Given the description of an element on the screen output the (x, y) to click on. 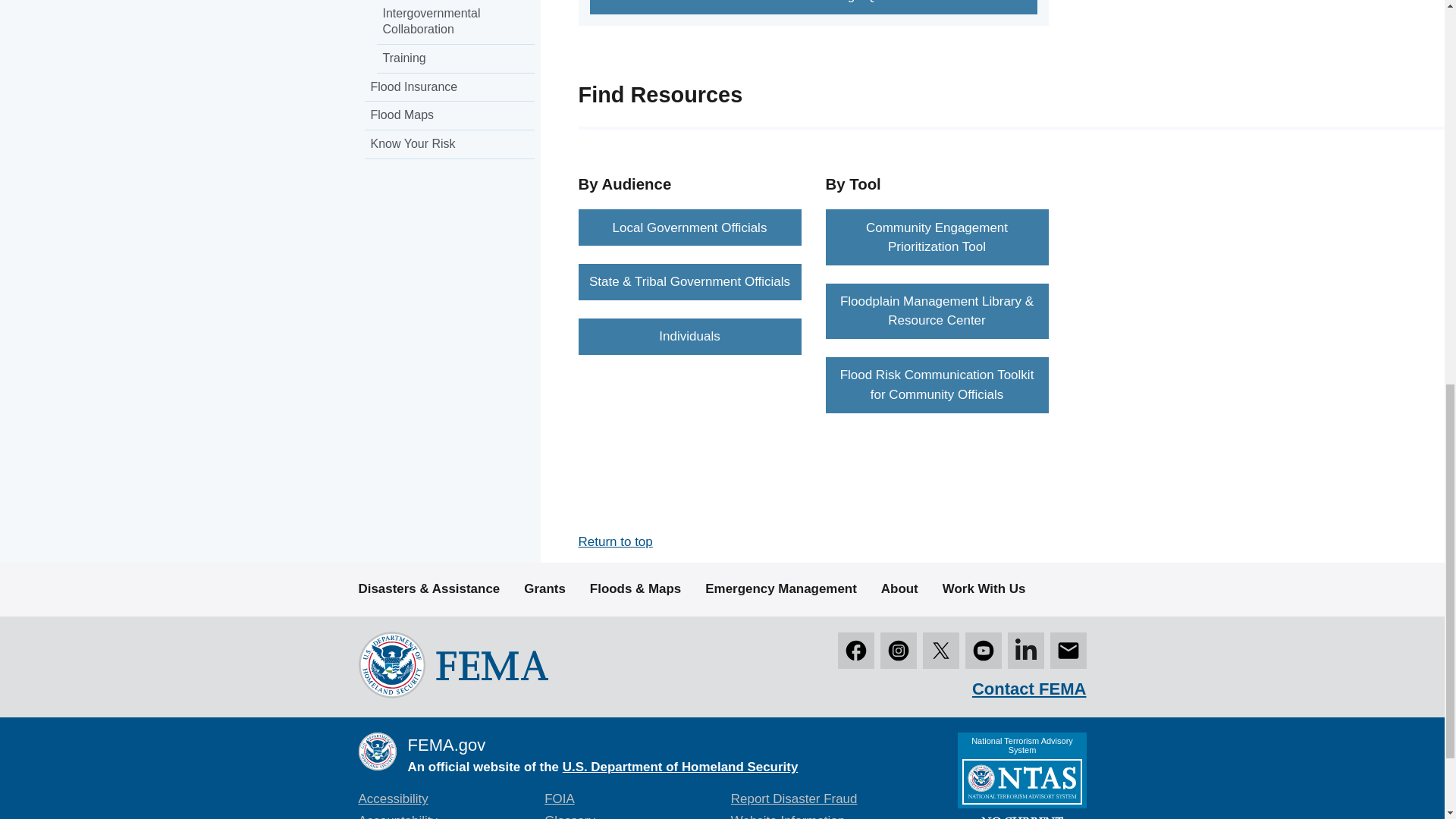
Know Your Risk (449, 144)
Flood Insurance (449, 87)
Flood Maps (449, 115)
Read the Substantial Damage Quick Guide (812, 7)
National Terrorism Advisory System (1021, 775)
Training (454, 59)
FEMA logo (452, 664)
Intergovernmental Collaboration (454, 22)
